Given the description of an element on the screen output the (x, y) to click on. 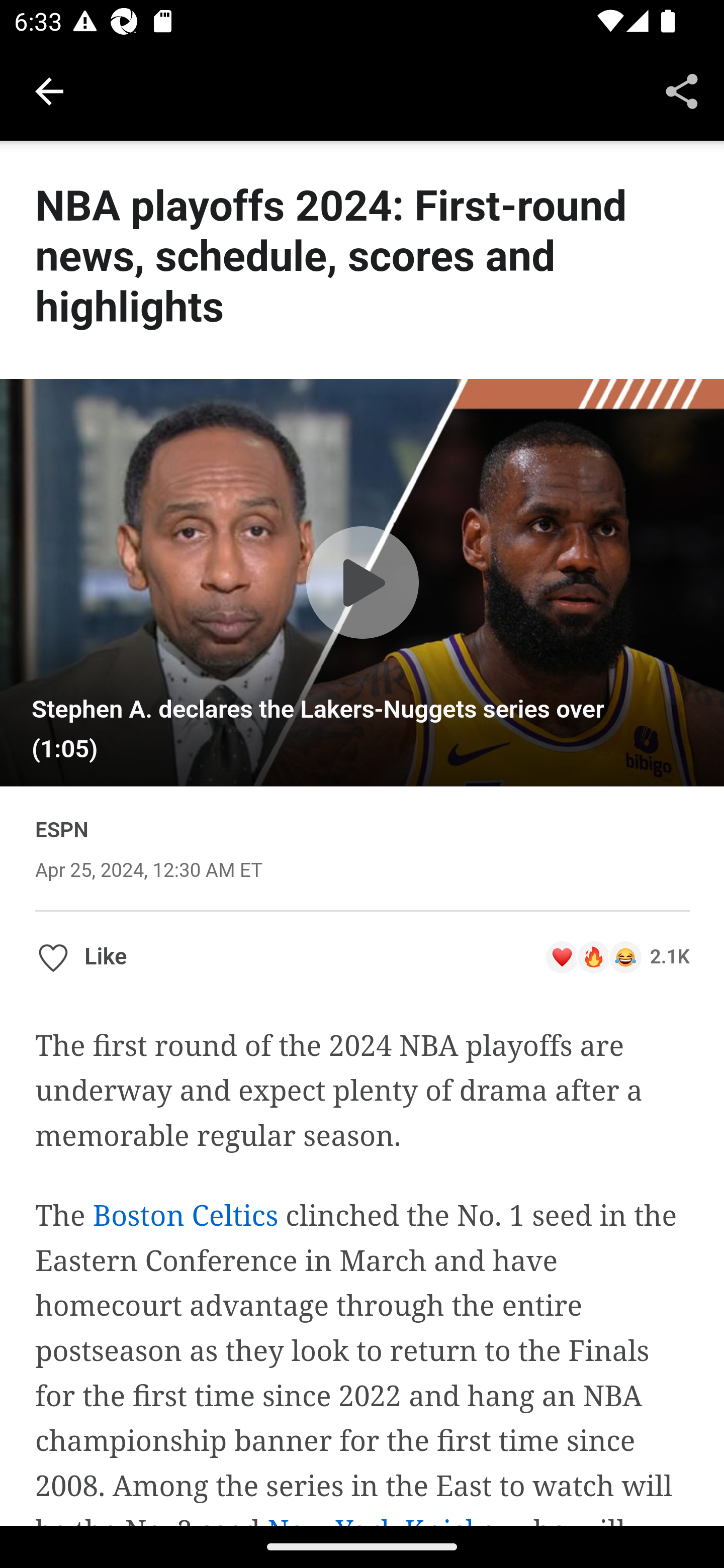
Navigate up (49, 91)
Share (681, 90)
